Given the description of an element on the screen output the (x, y) to click on. 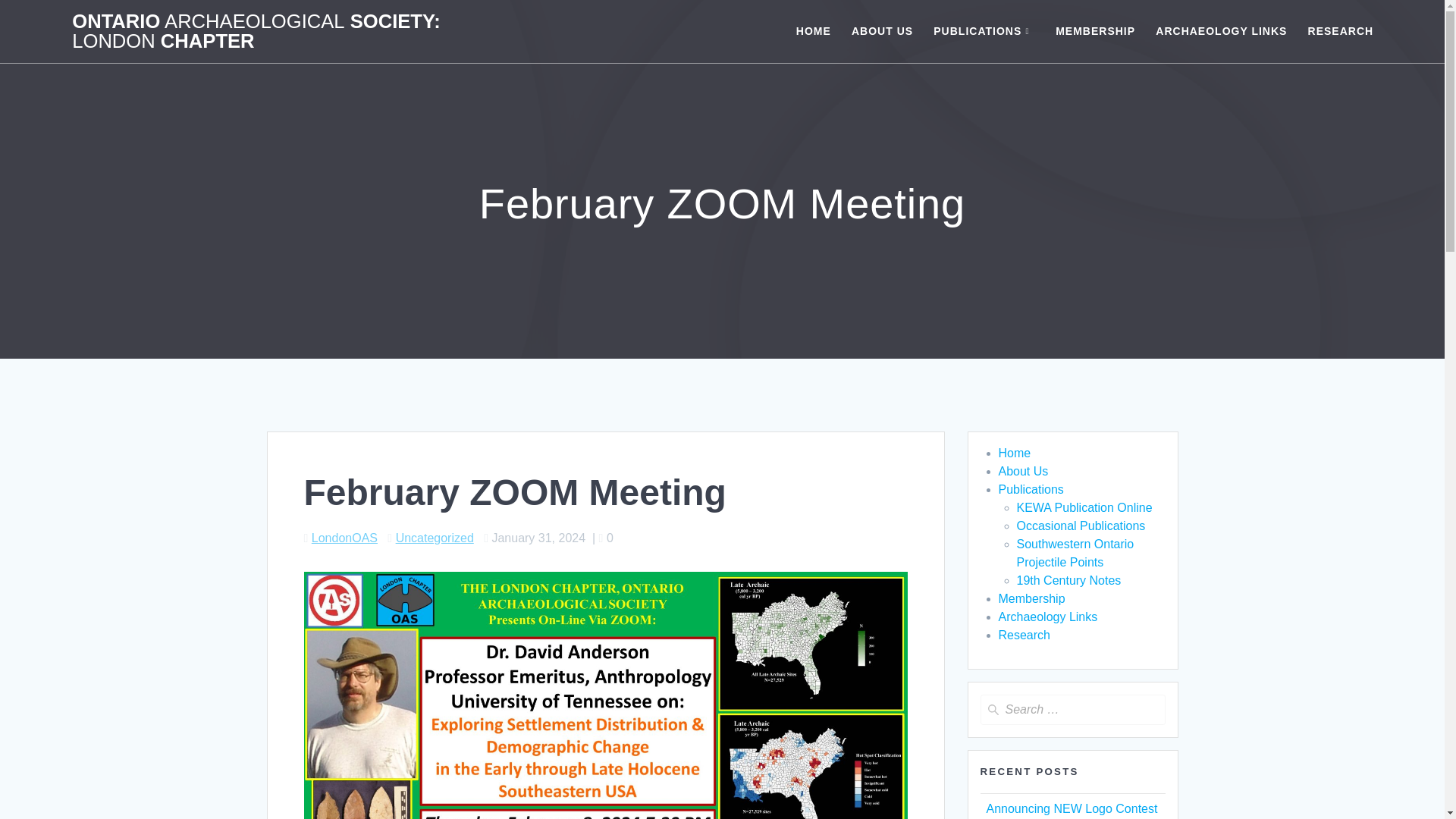
HOME (813, 30)
Archaeology Links (1047, 616)
19th Century Notes (1068, 580)
KEWA Publication Online (1083, 507)
Posts by LondonOAS (344, 537)
ONTARIO ARCHAEOLOGICAL SOCIETY: LONDON CHAPTER (258, 31)
Research (1023, 634)
Home (1013, 452)
Occasional Publications (1080, 525)
Publications (1029, 489)
